Given the description of an element on the screen output the (x, y) to click on. 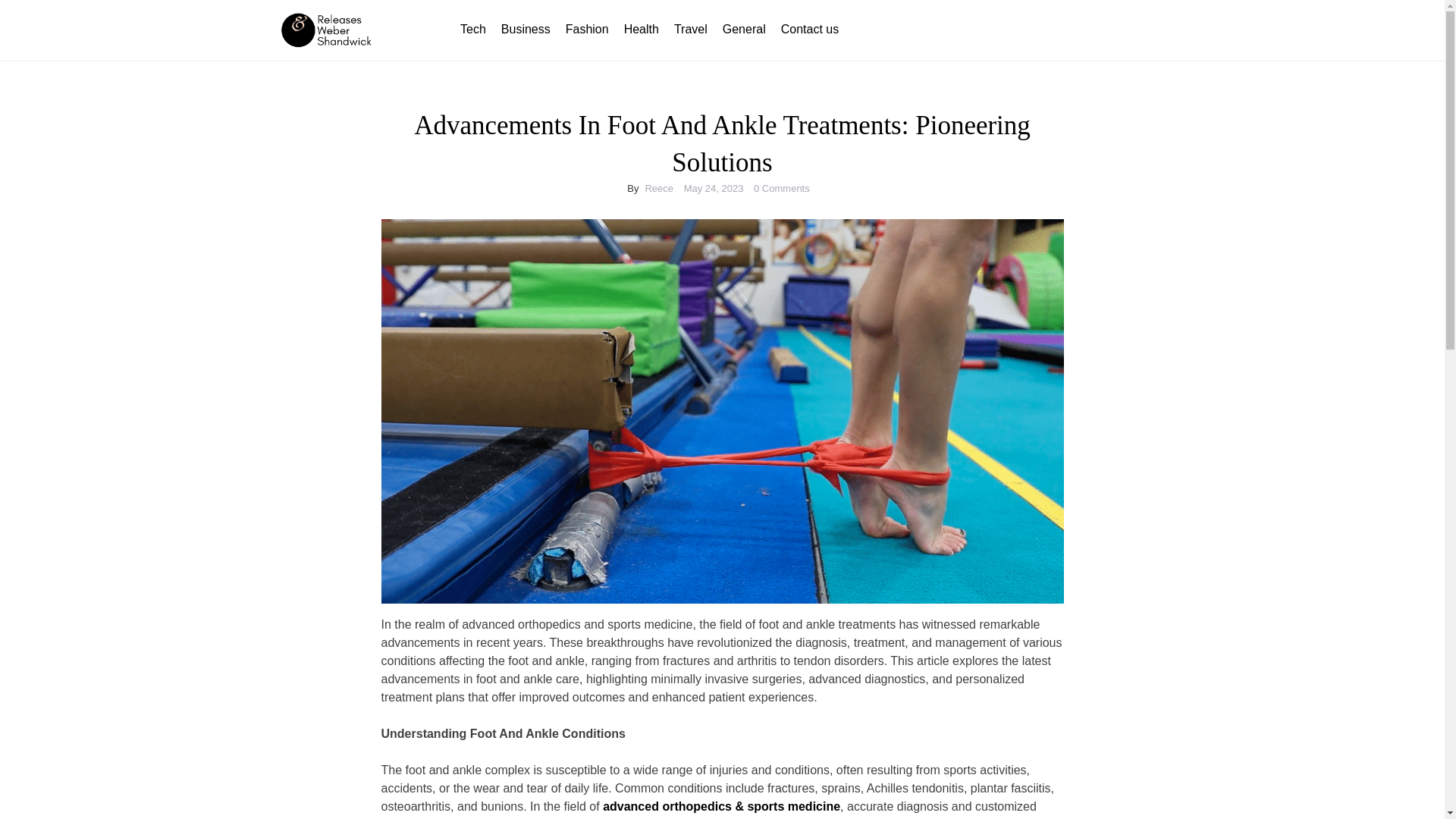
Business (525, 29)
May 24, 2023 (714, 188)
Fashion (586, 29)
Health (640, 29)
Travel (690, 29)
General (743, 29)
Contact us (809, 29)
Releases Weber Shandwick (487, 33)
Fashion (586, 29)
Reece (658, 188)
Contact us (809, 29)
Tech (472, 29)
Travel (690, 29)
0 Comments (781, 188)
General (743, 29)
